Given the description of an element on the screen output the (x, y) to click on. 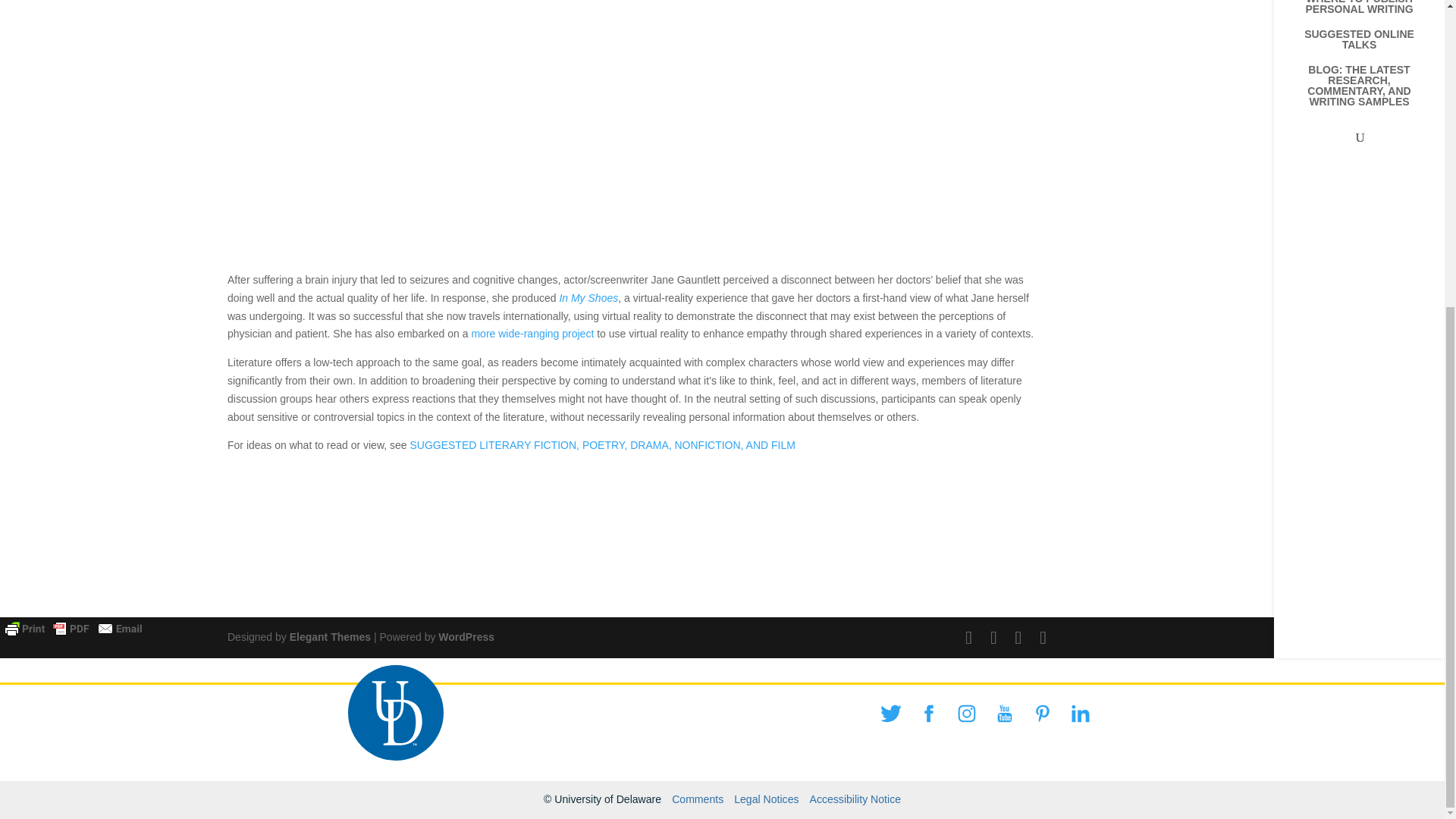
In My Shoes (588, 297)
Elegant Themes (330, 636)
more wide-ranging project (532, 333)
WordPress (466, 636)
Premium WordPress Themes (330, 636)
